Given the description of an element on the screen output the (x, y) to click on. 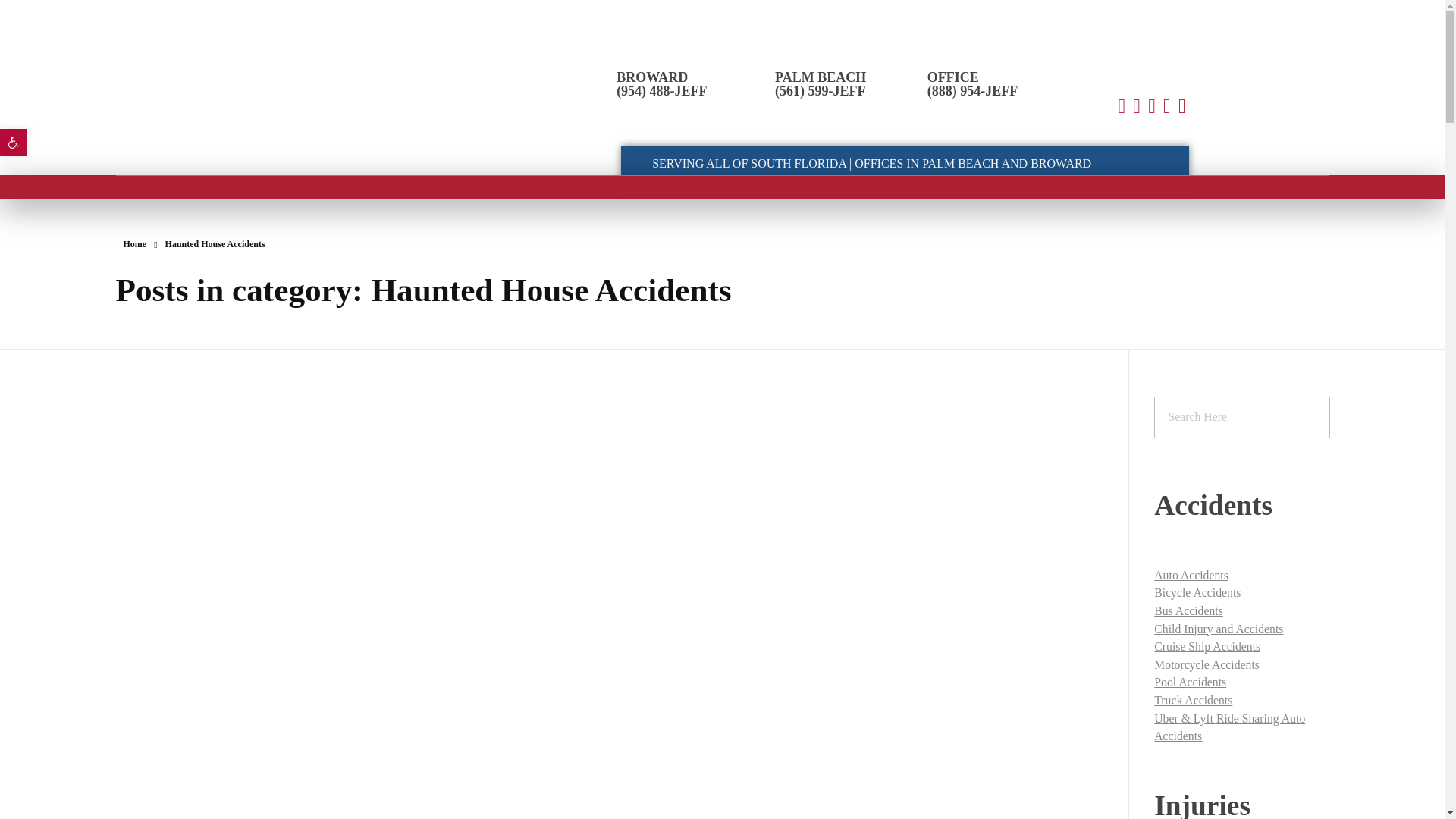
Home (134, 244)
South Florida Injury Law Firm (267, 128)
Accessibility Tools (13, 142)
South Florida Injury Law Firm (304, 80)
South Florida Injury Law Firm (267, 128)
